Given the description of an element on the screen output the (x, y) to click on. 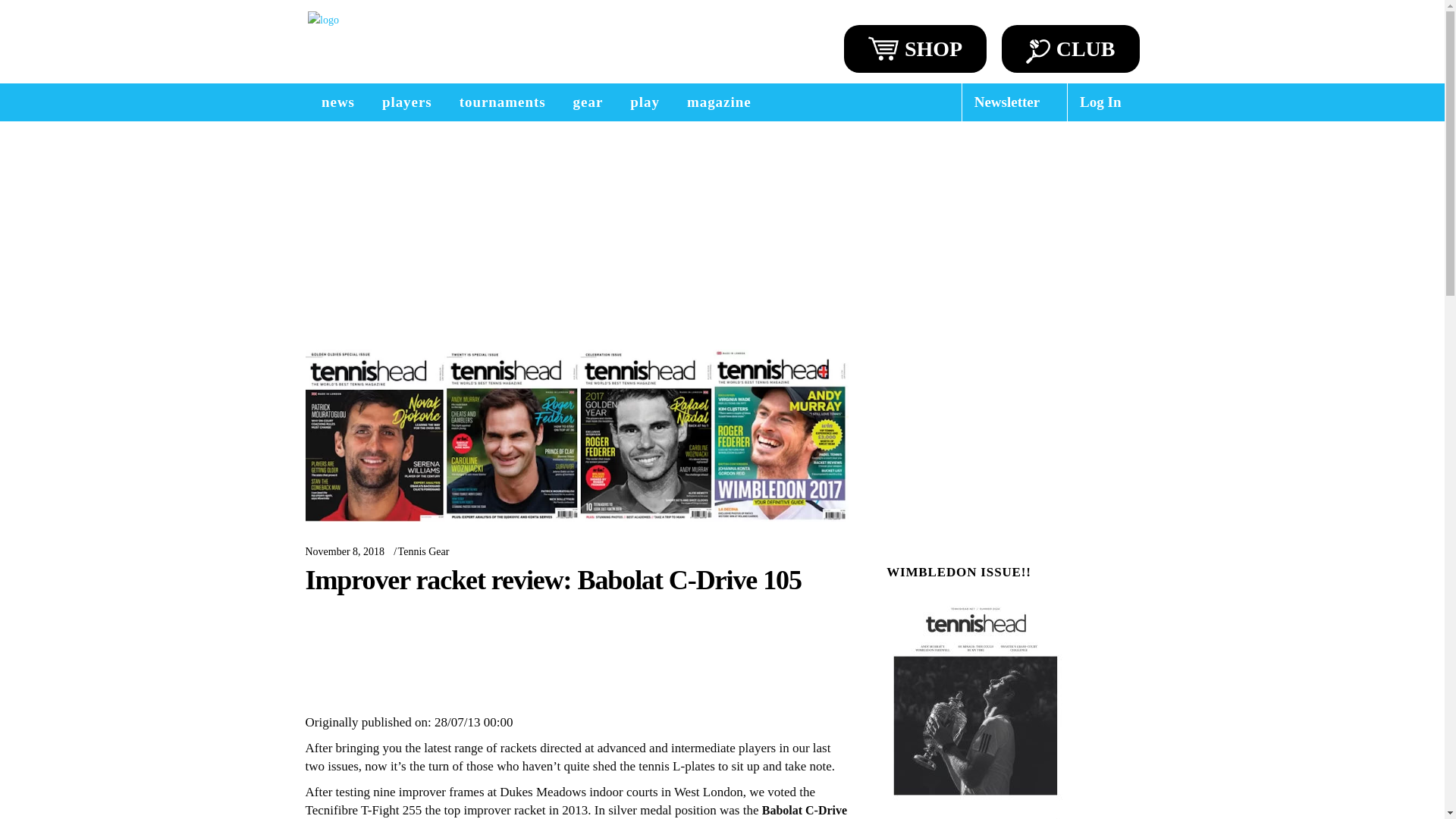
SHOP (915, 48)
CLUB (1070, 48)
players (406, 102)
tournaments (502, 102)
play (643, 102)
news (337, 102)
gear (588, 102)
